Given the description of an element on the screen output the (x, y) to click on. 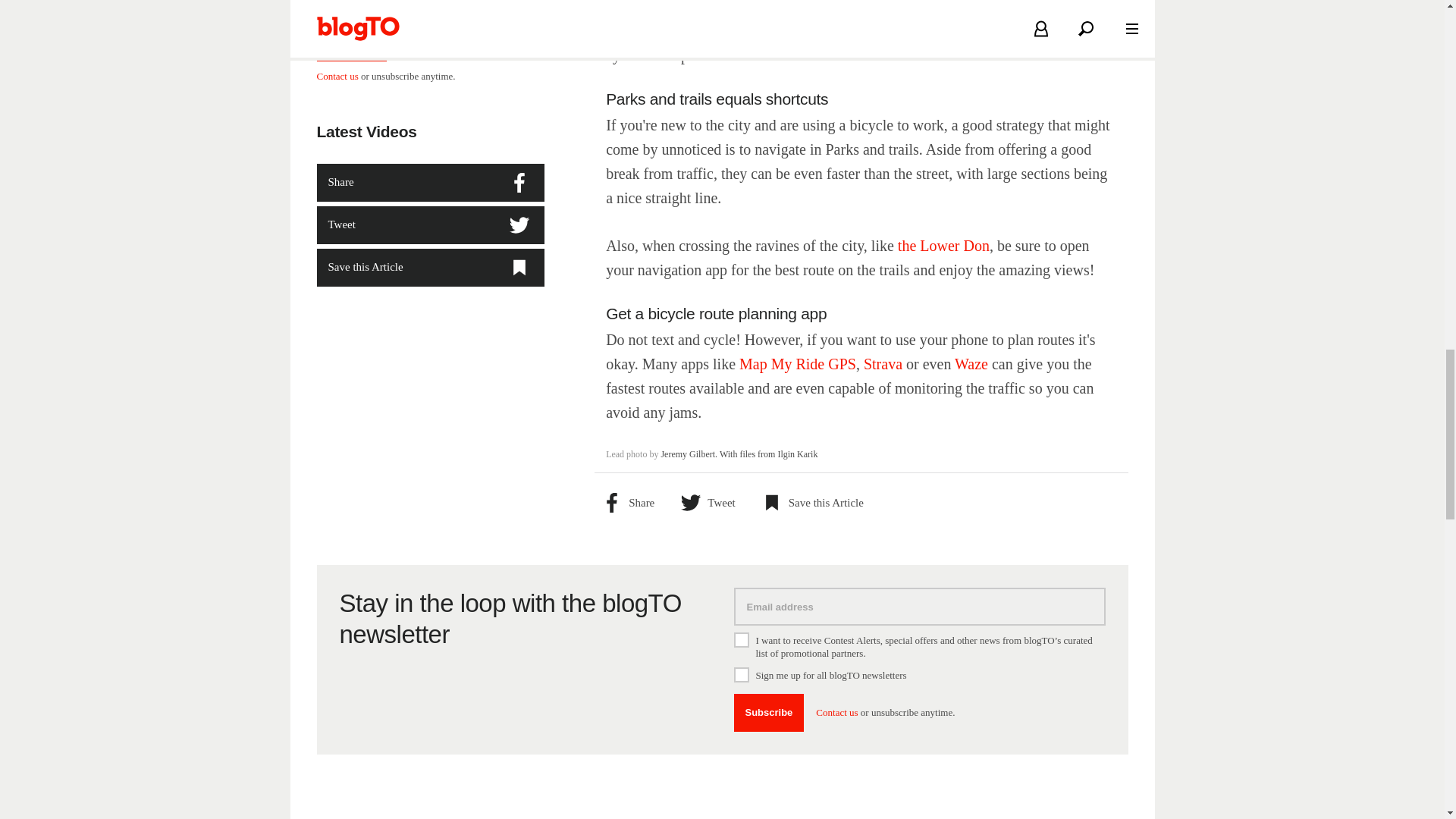
Subscribe (769, 712)
